Given the description of an element on the screen output the (x, y) to click on. 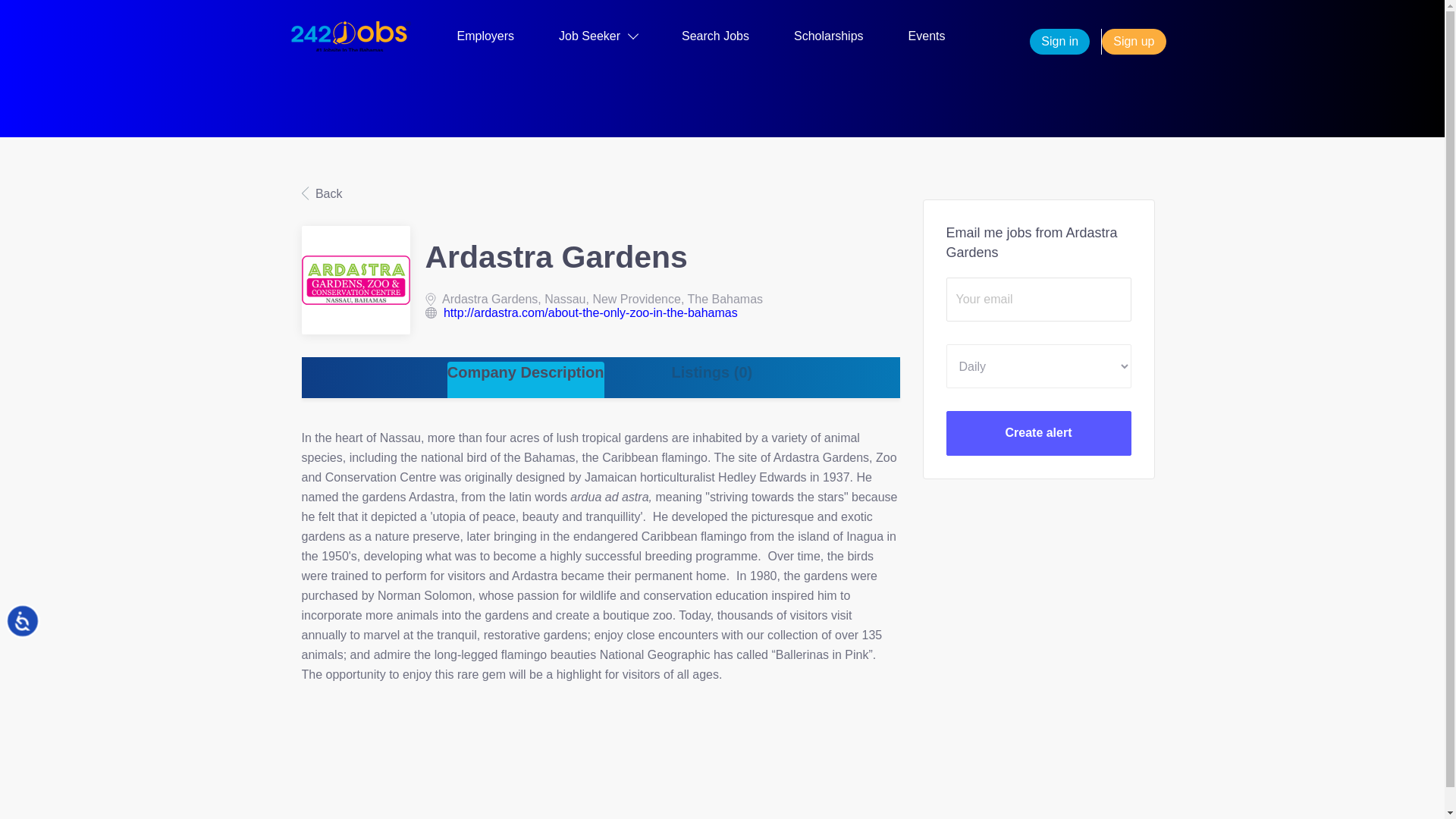
Create alert (1038, 433)
Sign in (1059, 41)
Create alert (1038, 433)
Search Jobs (715, 38)
Events (927, 38)
Employers (484, 38)
Job Seeker (598, 38)
Scholarships (828, 38)
Accessibility (39, 637)
Back (321, 193)
Company Description (525, 379)
Sign up (1134, 41)
